Given the description of an element on the screen output the (x, y) to click on. 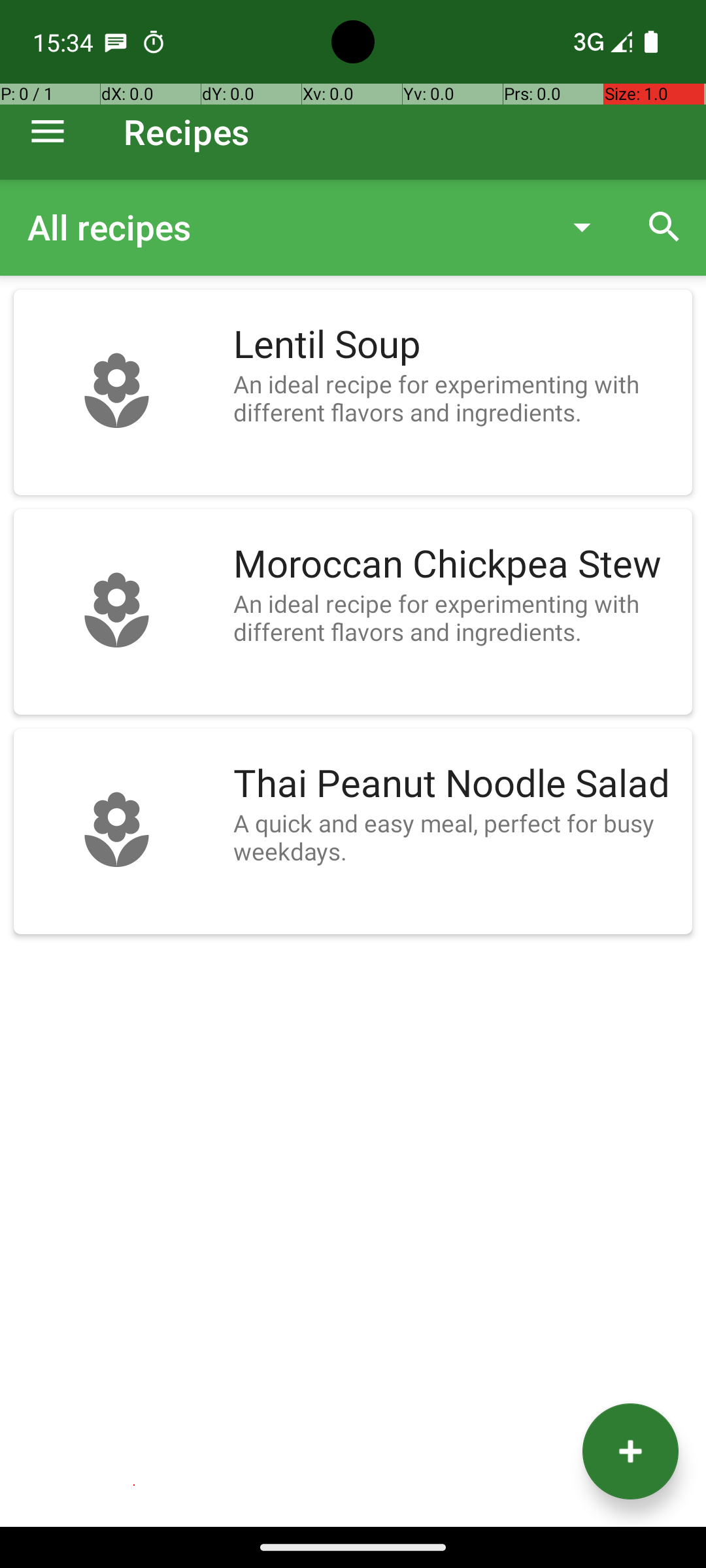
Thai Peanut Noodle Salad Element type: android.widget.TextView (455, 783)
